Given the description of an element on the screen output the (x, y) to click on. 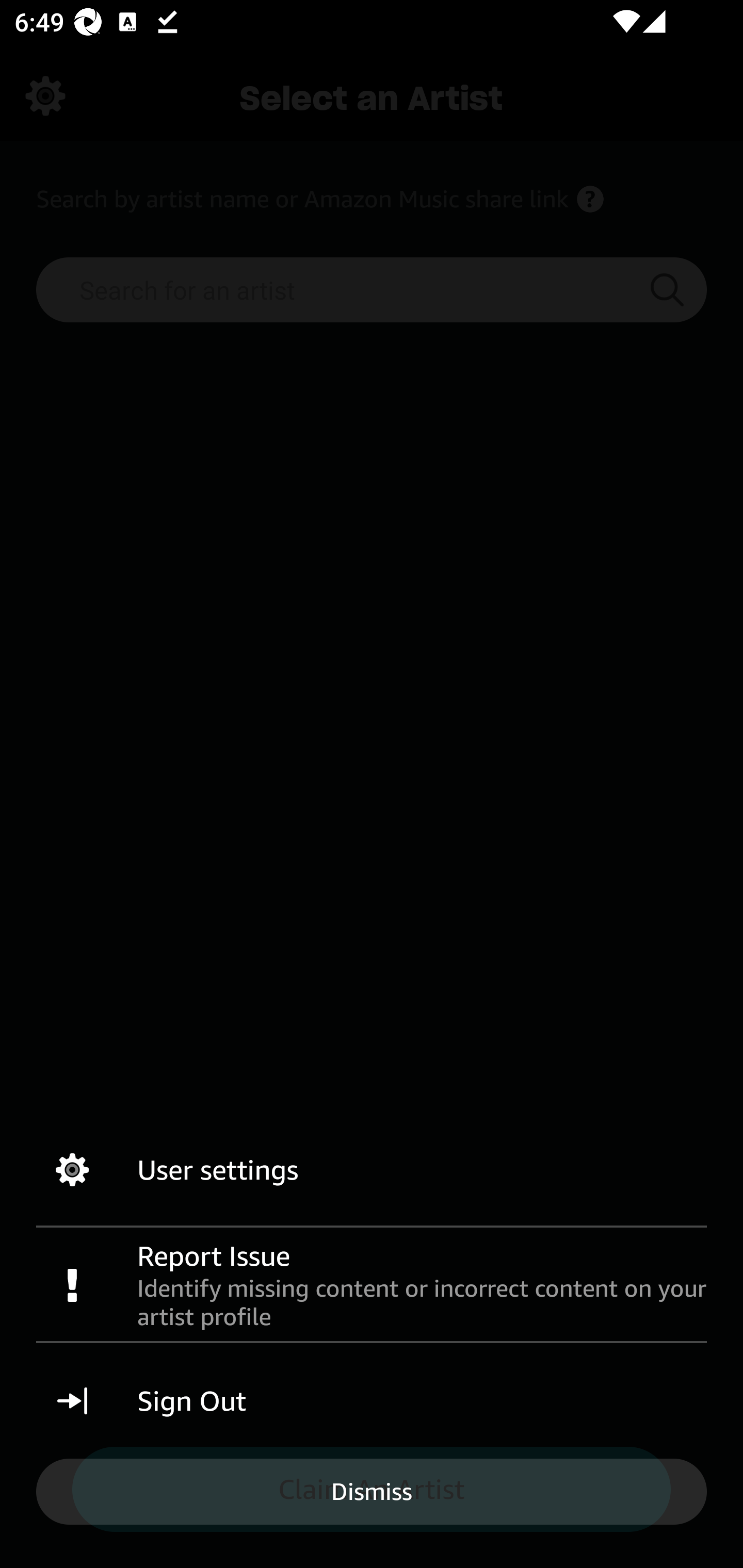
User settings  icon User settings User settings (371, 1169)
Sign Out  icon Sign Out Sign Out (371, 1400)
Dismiss button Dismiss (371, 1491)
